Given the description of an element on the screen output the (x, y) to click on. 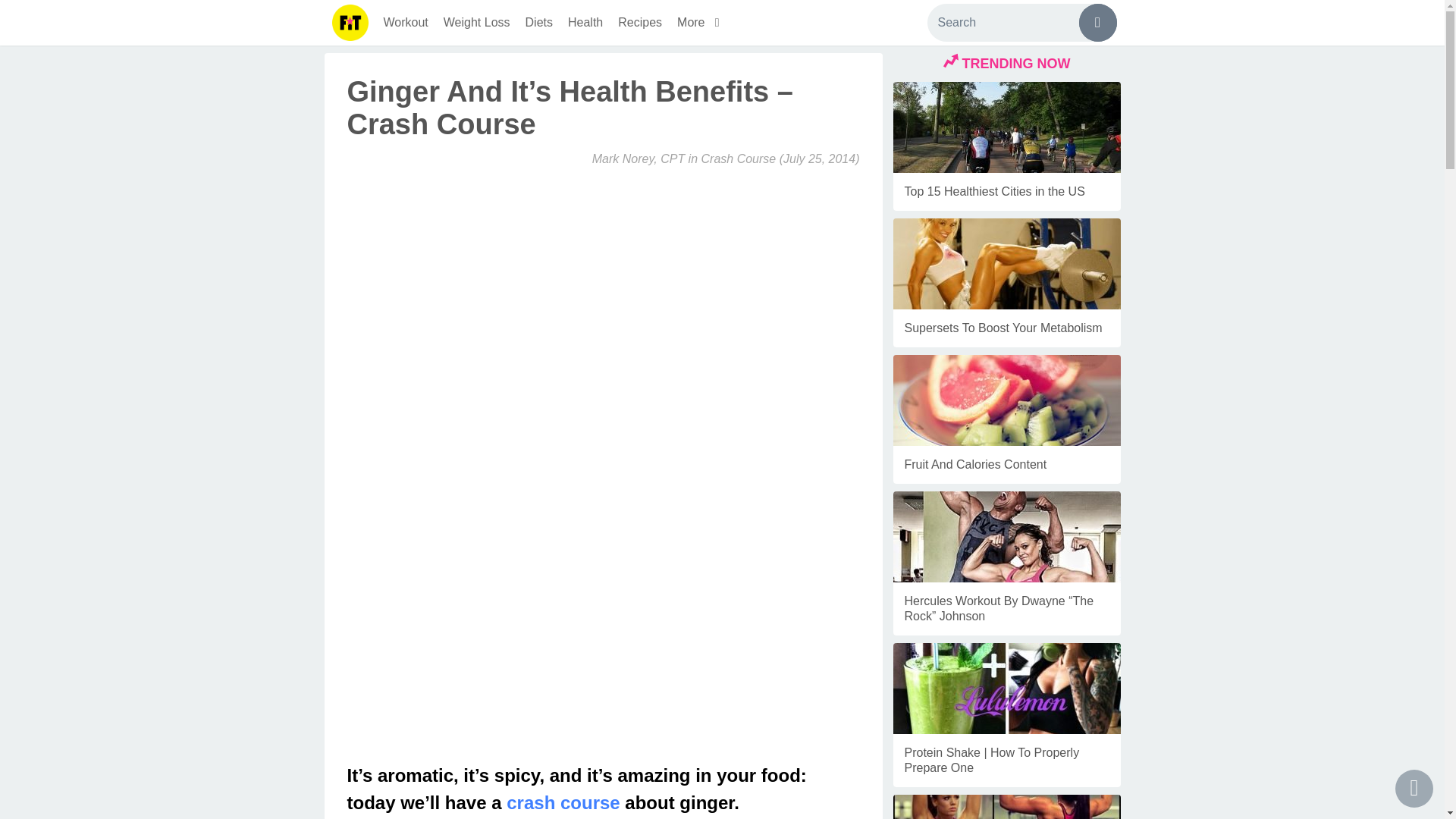
Diets (539, 22)
Posts by Mark Norey, CPT (638, 158)
Recipes (639, 22)
More (701, 22)
Crash Course (738, 158)
Workout (405, 22)
Mark Norey, CPT (638, 158)
Search (1021, 22)
Weight Loss (476, 22)
Health (585, 22)
crash course (563, 802)
